Given the description of an element on the screen output the (x, y) to click on. 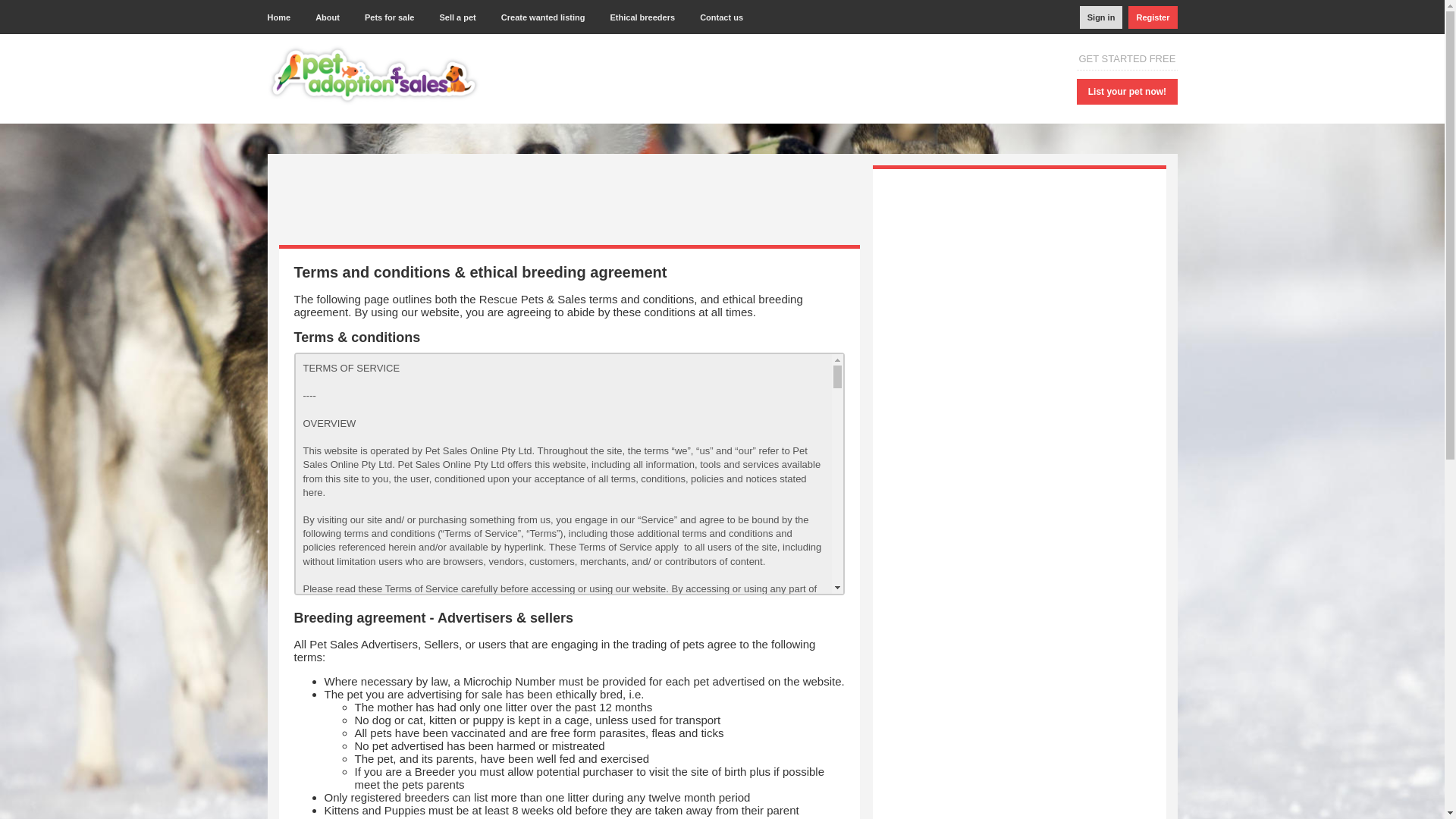
Contact us (721, 16)
Ethical pet breeders New Zealand (642, 16)
Sell a pet (458, 16)
About (327, 16)
Sell your pet for free New Zealand (1126, 91)
Pets for sale (389, 16)
Sell a pet online New Zealand (458, 16)
Pets for sale in New Zealand (389, 16)
List your pet now! (1126, 91)
Ethical breeders (642, 16)
Create wanted listing (543, 16)
Home (283, 16)
Sign in (1101, 16)
Create a wanted pet listing New Zealand (543, 16)
Register (1152, 16)
